Given the description of an element on the screen output the (x, y) to click on. 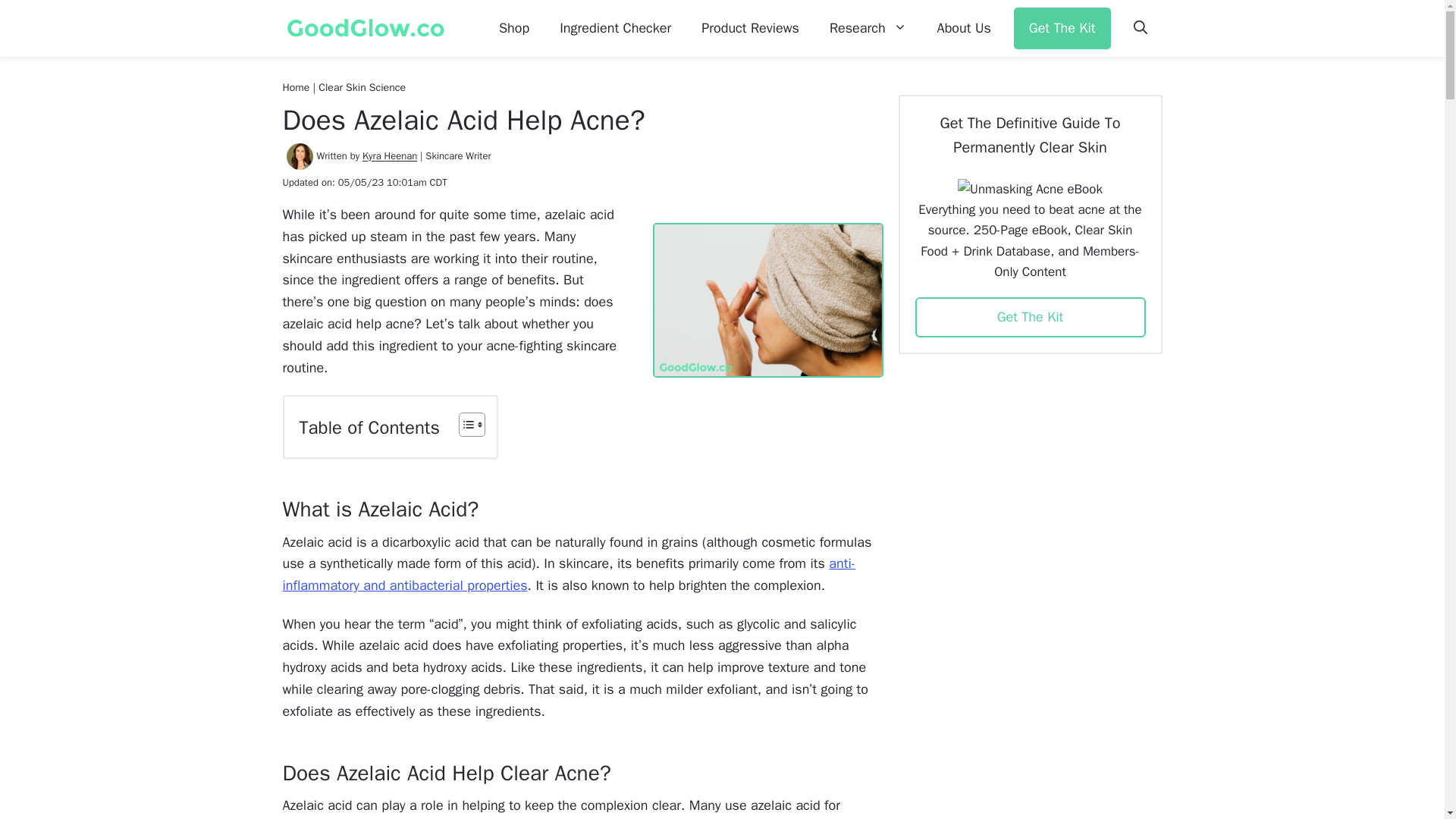
anti-inflammatory and antibacterial properties (569, 574)
Kyra Heenan (389, 155)
Product Reviews (749, 28)
Clear Skin Science (362, 87)
About Us (963, 28)
GoodGlow (367, 28)
Research (867, 28)
View all posts by Kyra Heenan (389, 155)
Ingredient Checker (614, 28)
Shop (513, 28)
